Given the description of an element on the screen output the (x, y) to click on. 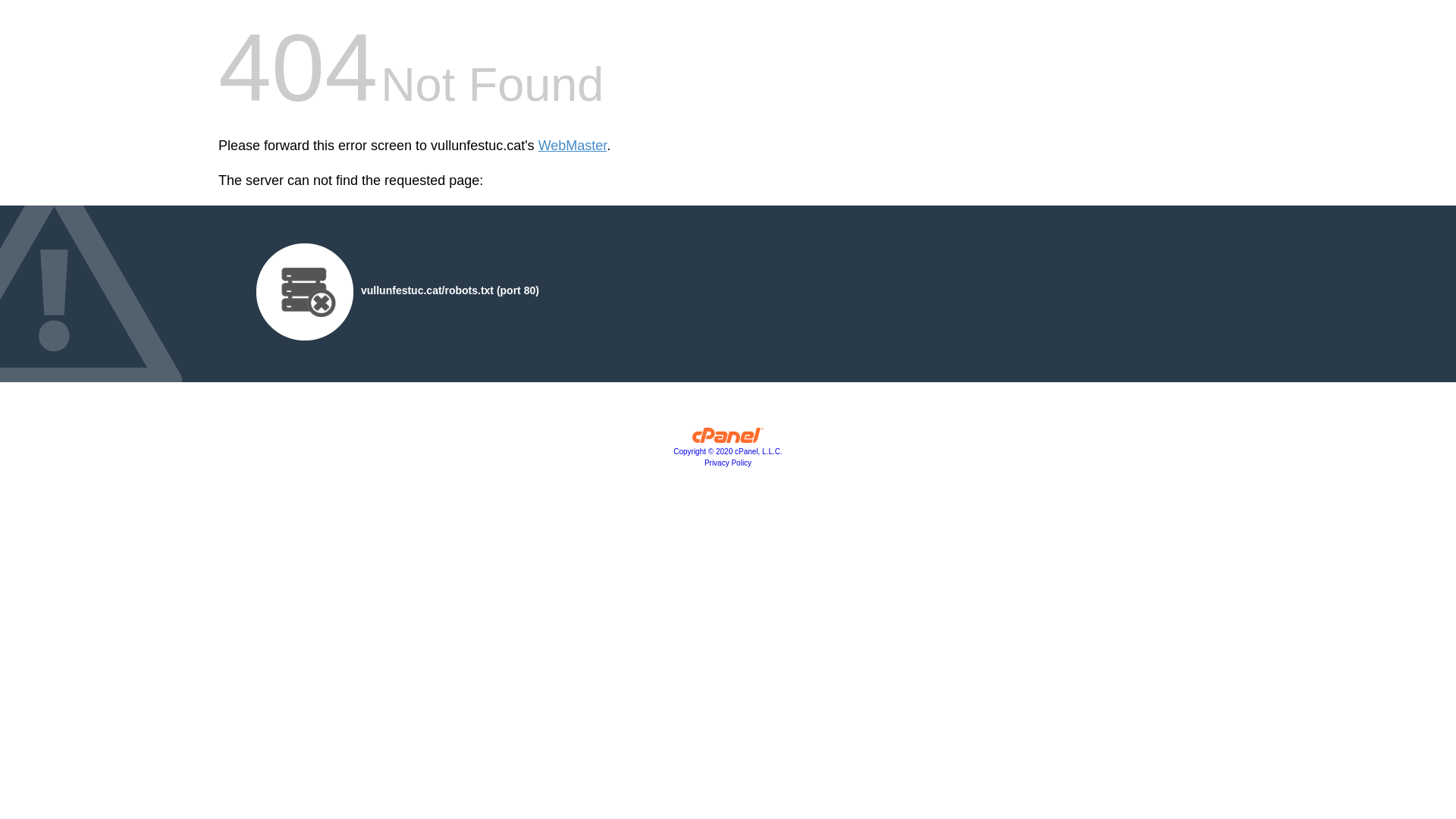
WebMaster Element type: text (572, 145)
Privacy Policy Element type: text (727, 462)
cPanel, Inc. Element type: hover (728, 439)
